Given the description of an element on the screen output the (x, y) to click on. 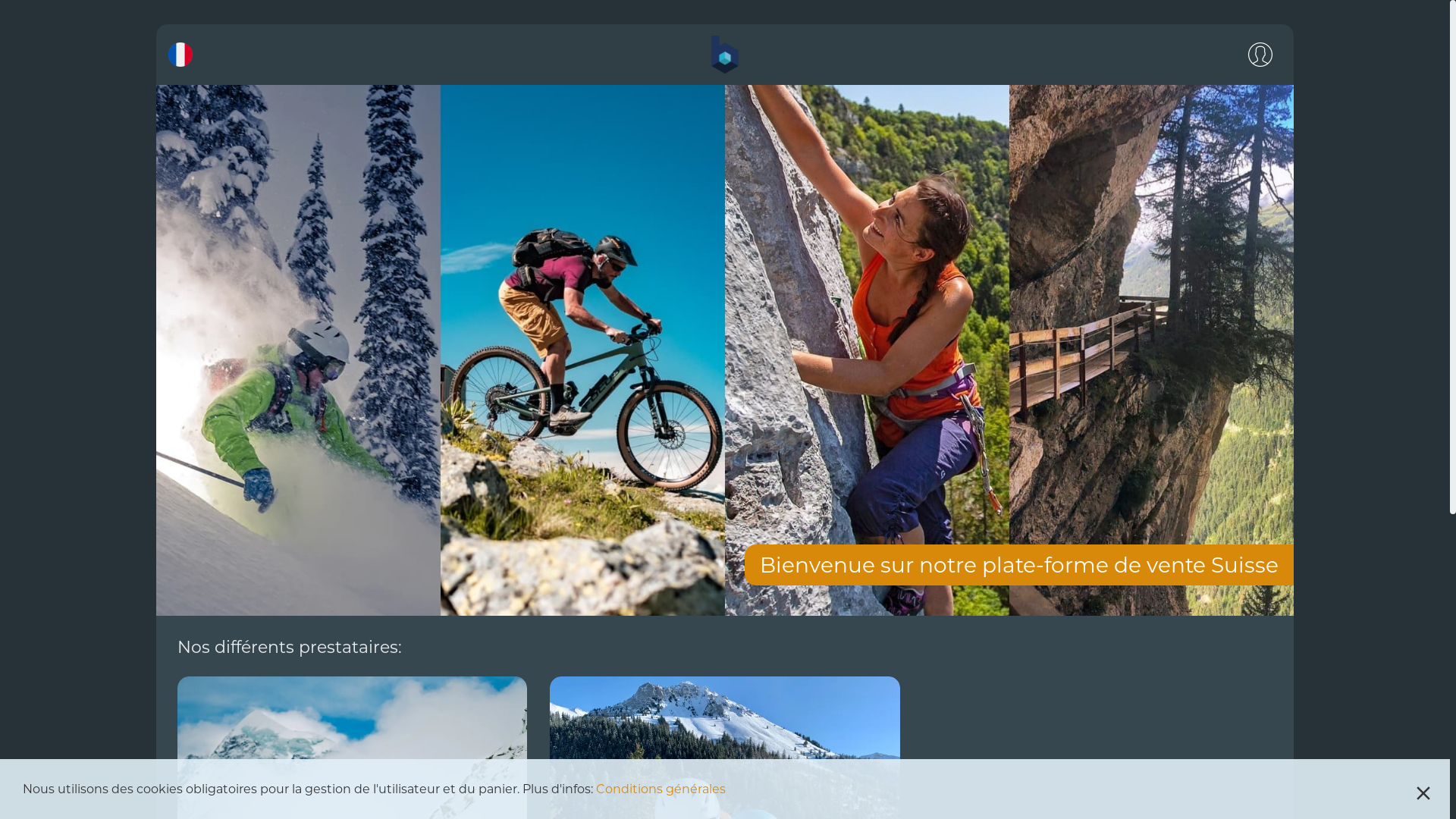
Se connecter Element type: hover (1260, 54)
